Given the description of an element on the screen output the (x, y) to click on. 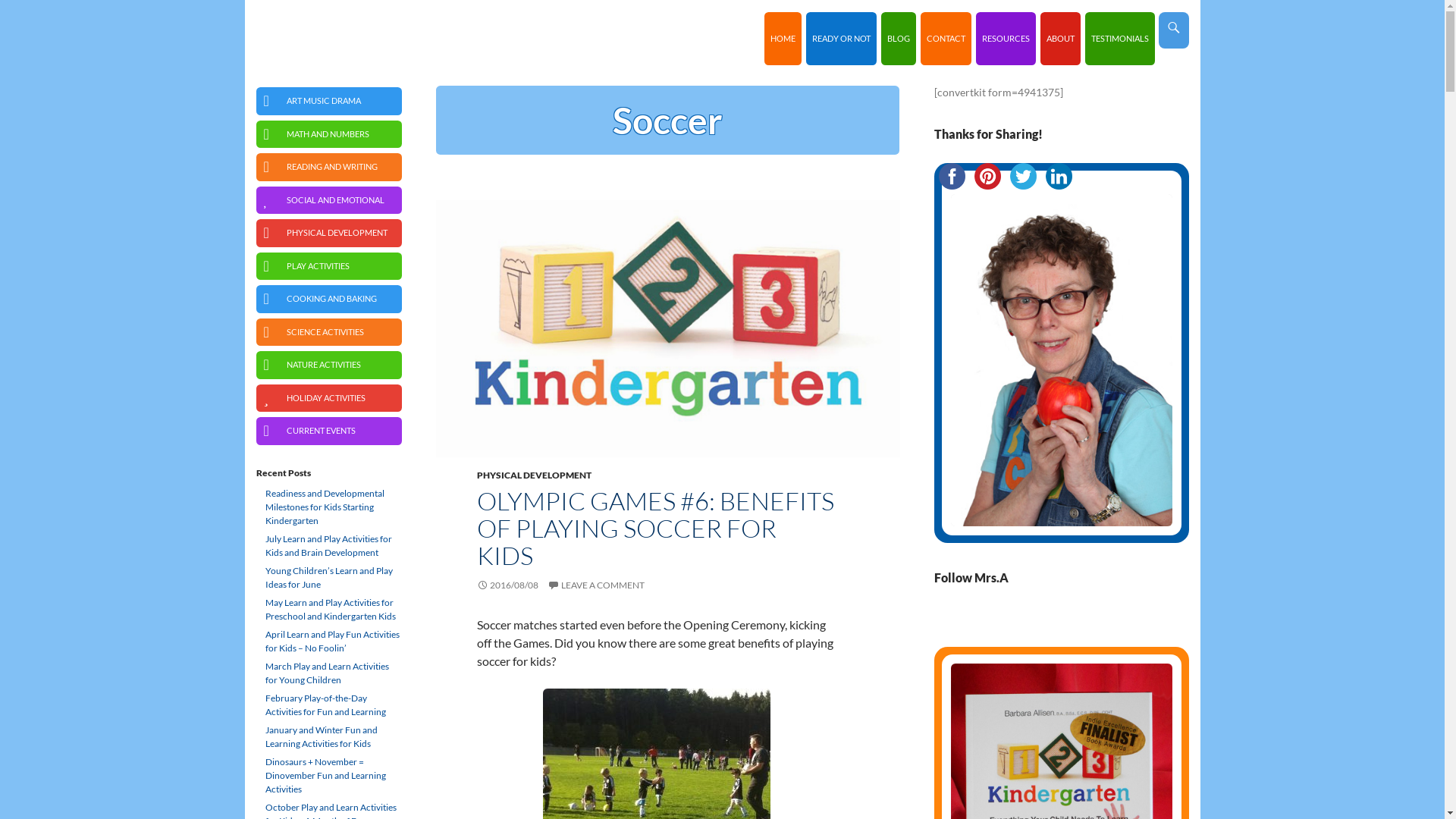
twitter Element type: hover (1023, 176)
SCIENCE ACTIVITIES Element type: text (328, 332)
linkedin Element type: hover (1058, 176)
CURRENT EVENTS Element type: text (328, 431)
READY OR NOT Element type: text (840, 38)
BLOG Element type: text (898, 38)
ART MUSIC DRAMA Element type: text (328, 101)
pinterest Element type: hover (986, 176)
OLYMPIC GAMES #6: BENEFITS OF PLAYING SOCCER FOR KIDS Element type: text (654, 528)
SOCIAL AND EMOTIONAL Element type: text (328, 200)
pinterest Element type: hover (1068, 621)
Search Element type: text (248, 12)
COOKING AND BAKING Element type: text (328, 299)
twitter Element type: hover (1039, 621)
google-plus Element type: hover (1097, 621)
LEAVE A COMMENT Element type: text (595, 584)
facebook Element type: hover (951, 176)
youtube Element type: hover (1082, 621)
MATH AND NUMBERS Element type: text (328, 133)
NATURE ACTIVITIES Element type: text (328, 365)
2016/08/08 Element type: text (506, 584)
SKIP TO CONTENT Element type: text (770, 12)
PHYSICAL DEVELOPMENT Element type: text (533, 474)
READING AND WRITING Element type: text (328, 167)
January and Winter Fun and Learning Activities for Kids Element type: text (328, 736)
facebook Element type: hover (1024, 621)
HOLIDAY ACTIVITIES Element type: text (328, 397)
TESTIMONIALS Element type: text (1119, 38)
March Play and Learn Activities for Young Children Element type: text (328, 673)
HOME Element type: text (782, 38)
CONTACT Element type: text (945, 38)
PLAY ACTIVITIES Element type: text (328, 265)
linkedin Element type: hover (1053, 621)
RESOURCES Element type: text (1005, 38)
ABOUT Element type: text (1060, 38)
PHYSICAL DEVELOPMENT Element type: text (328, 233)
February Play-of-the-Day Activities for Fun and Learning Element type: text (328, 704)
